Given the description of an element on the screen output the (x, y) to click on. 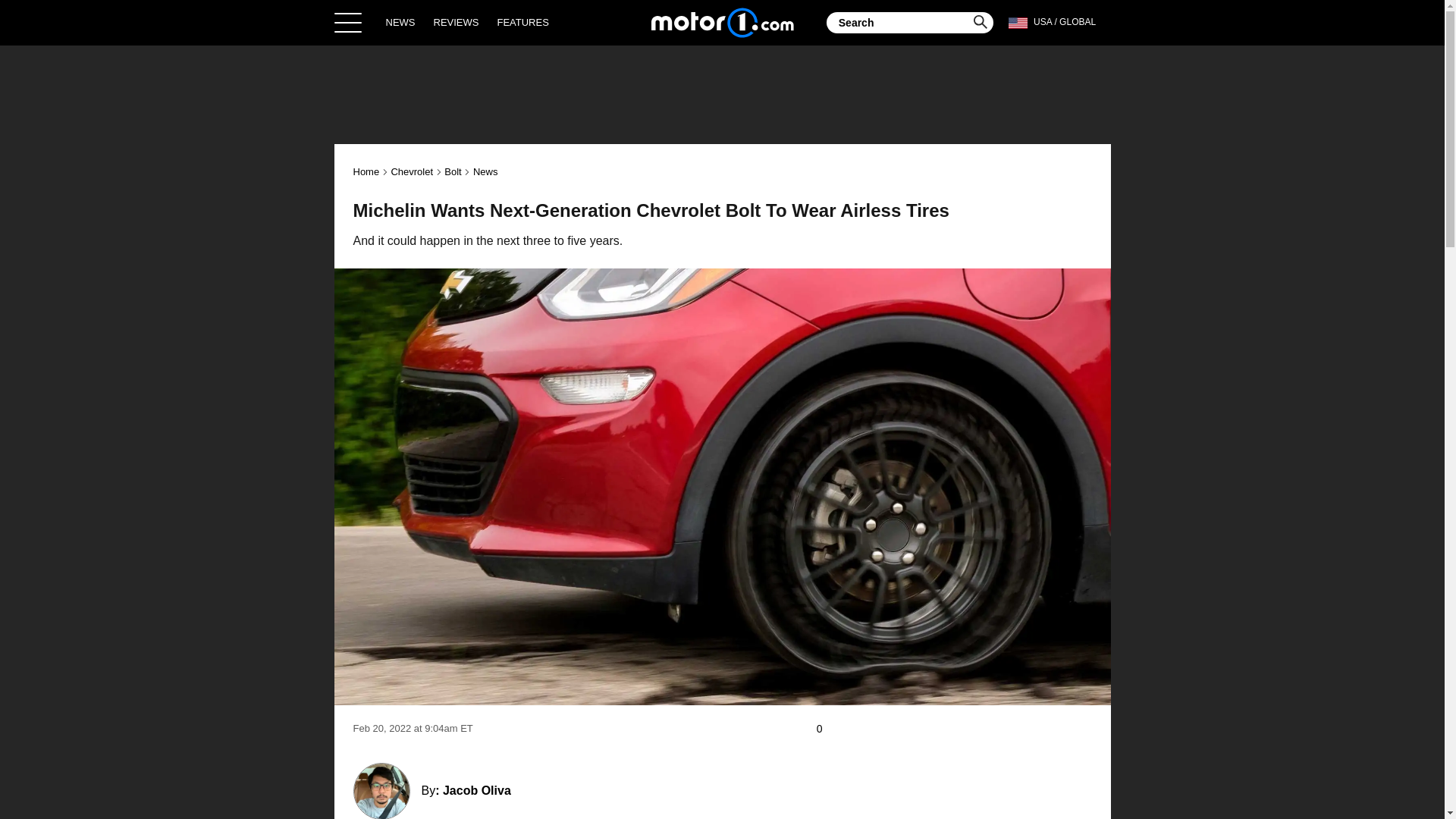
Chevrolet (411, 171)
0 (826, 728)
News (485, 171)
Home (366, 171)
Bolt (452, 171)
REVIEWS (456, 22)
NEWS (399, 22)
Jacob Oliva (476, 789)
FEATURES (522, 22)
Home (721, 22)
